Given the description of an element on the screen output the (x, y) to click on. 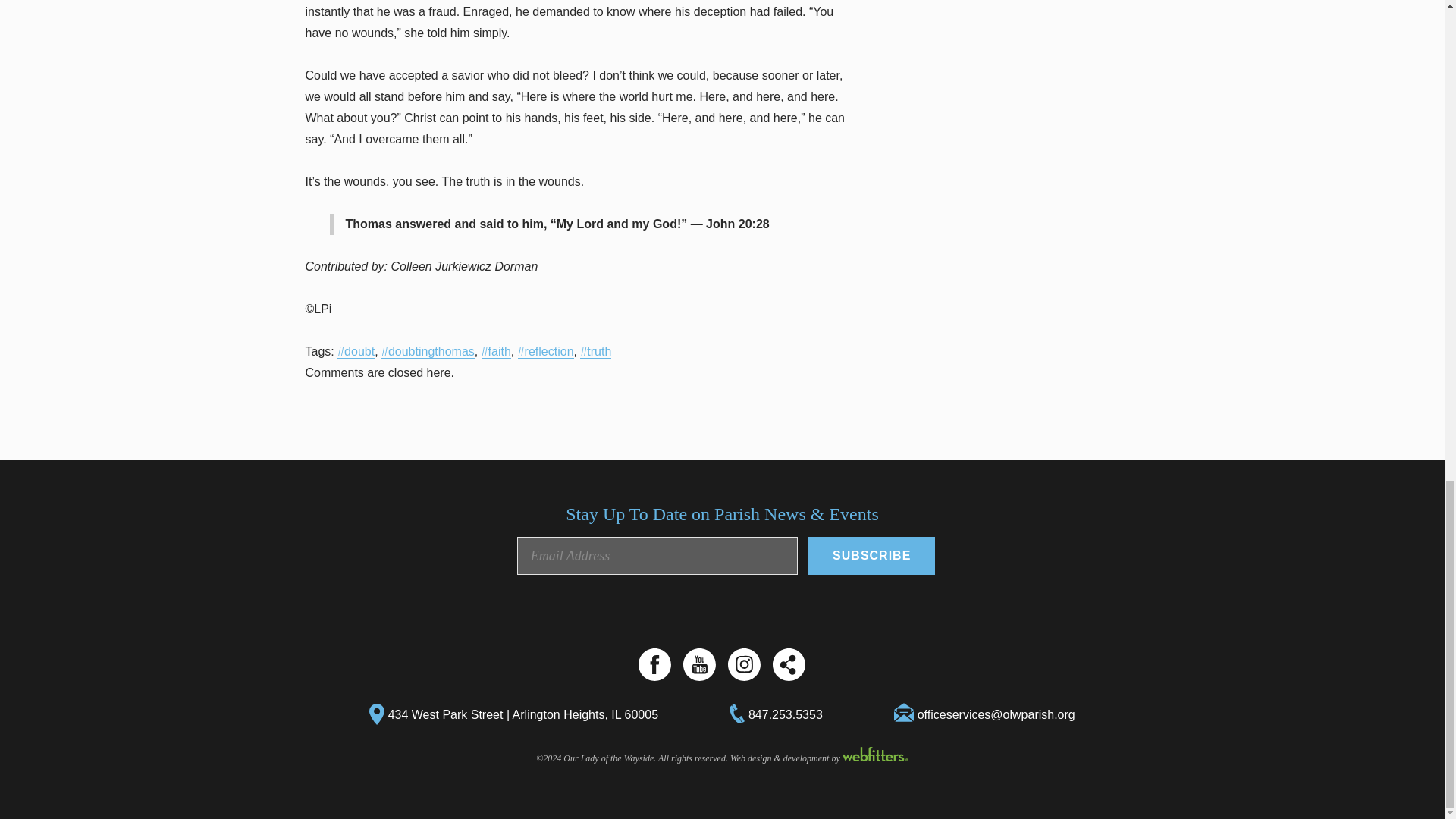
Subscribe (871, 555)
